Given the description of an element on the screen output the (x, y) to click on. 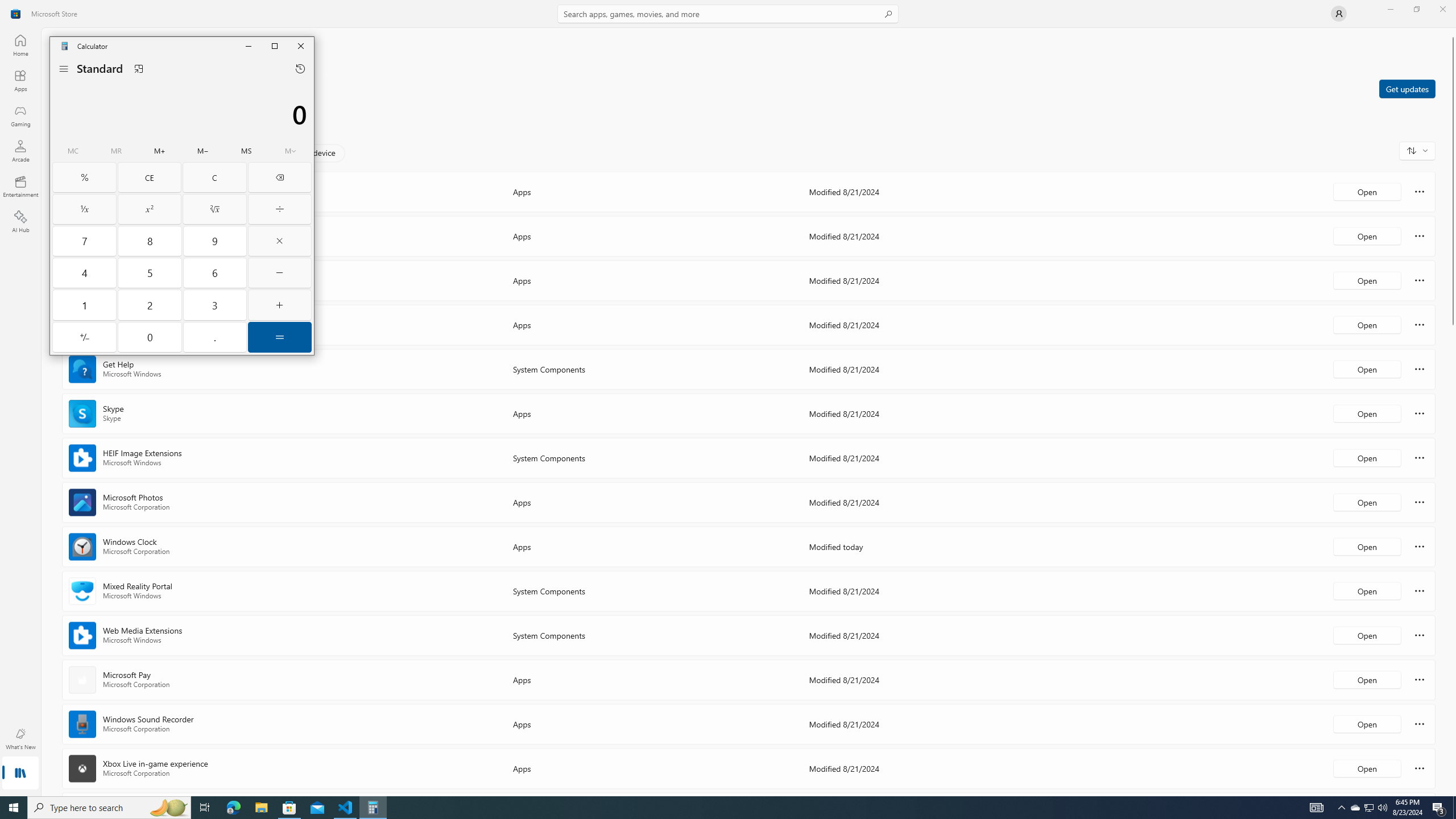
Running applications (717, 807)
Open history flyout (299, 68)
Task View (204, 807)
Keep on top (138, 68)
Start (13, 807)
Vertical Small Increase (1452, 792)
Reciprocal (84, 209)
Arcade (20, 150)
Minus (279, 272)
Three (215, 305)
Six (215, 272)
Search (727, 13)
Square root (214, 209)
Open memory flyout (290, 151)
